Given the description of an element on the screen output the (x, y) to click on. 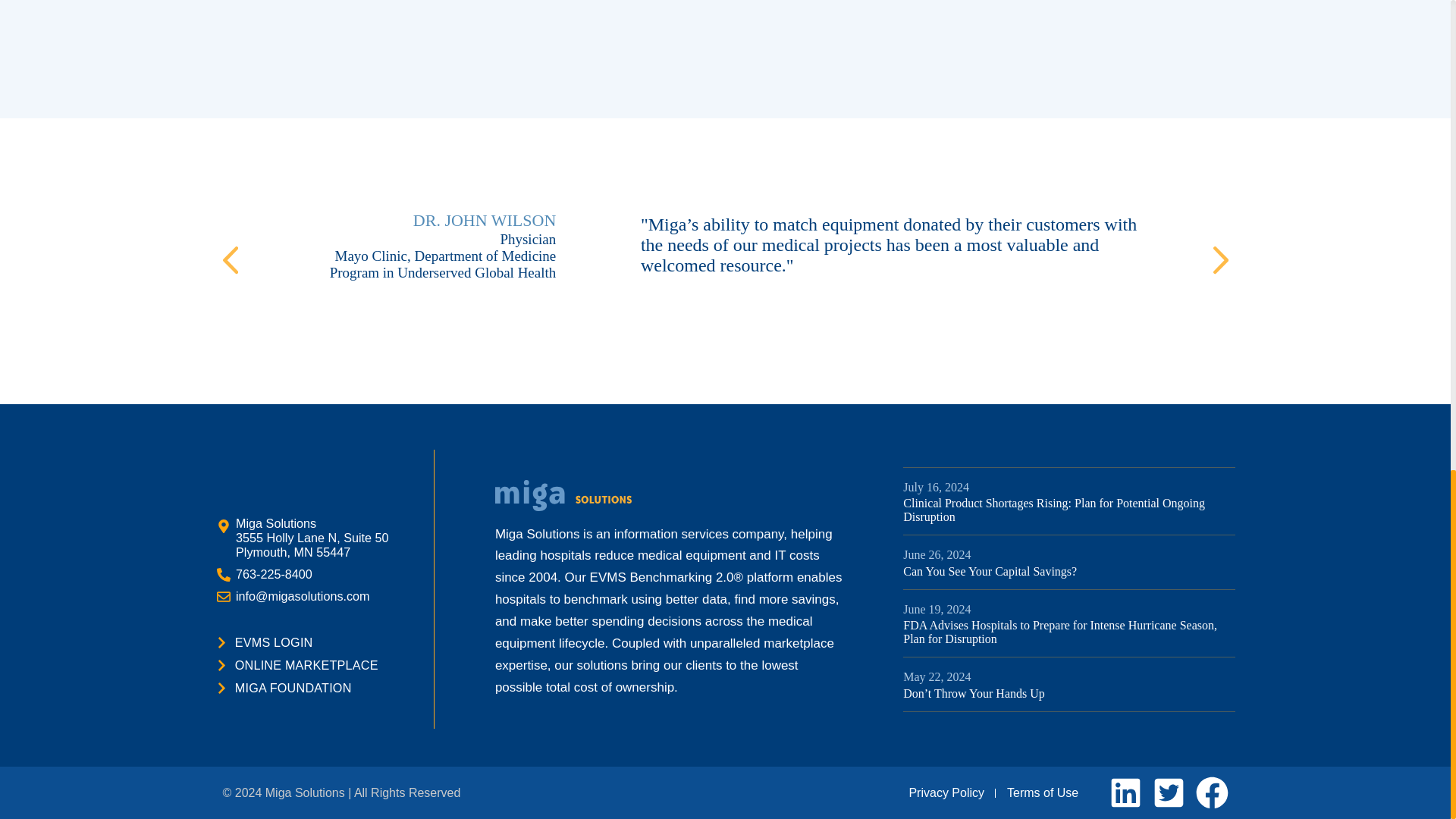
logo-foot (563, 495)
